Given the description of an element on the screen output the (x, y) to click on. 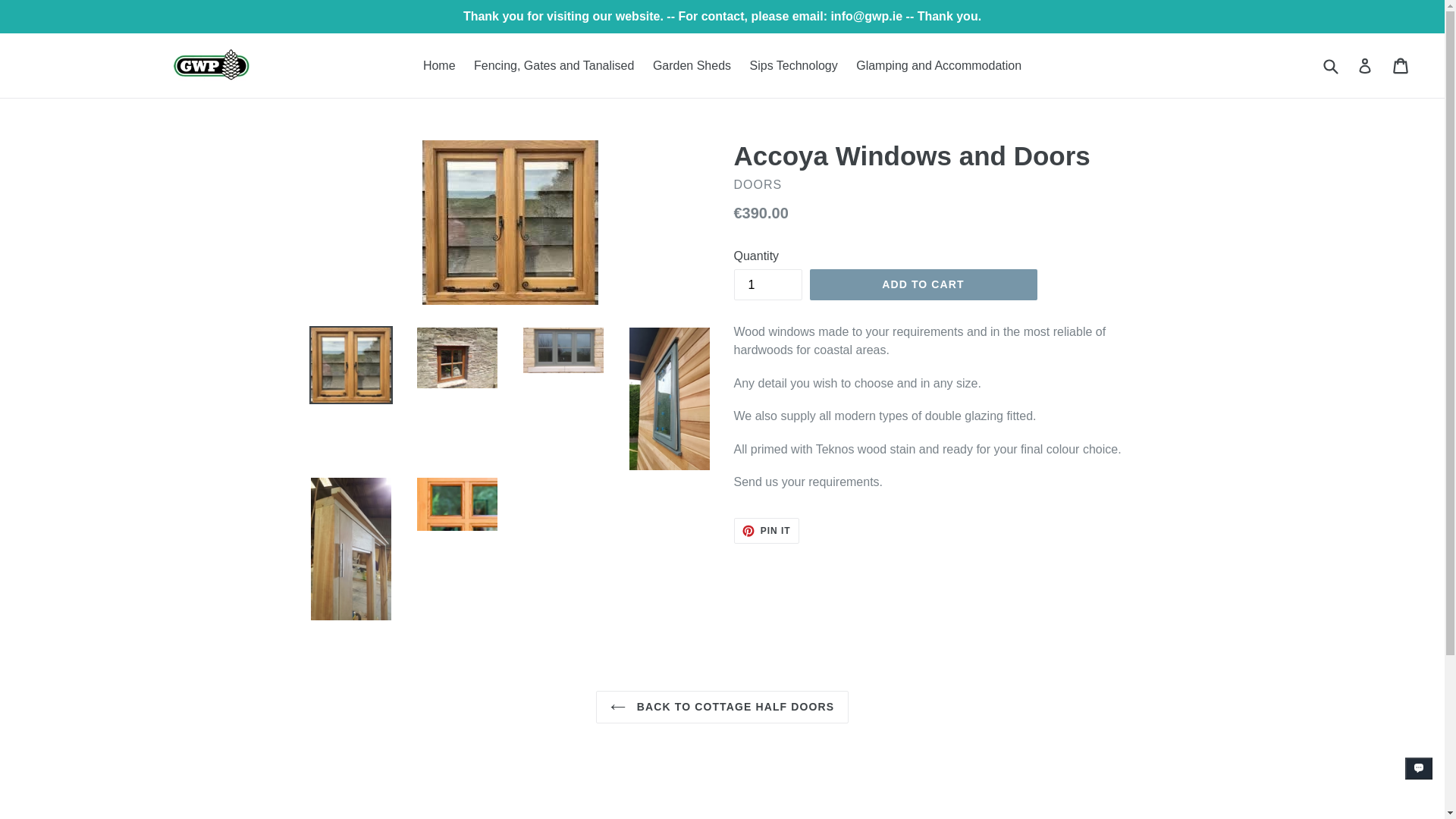
Sips Technology (766, 530)
Garden Sheds (793, 65)
Home (691, 65)
BACK TO COTTAGE HALF DOORS (438, 65)
ADD TO CART (721, 707)
Pin on Pinterest (922, 285)
Glamping and Accommodation (766, 530)
1 (938, 65)
Fencing, Gates and Tanalised (767, 284)
